Given the description of an element on the screen output the (x, y) to click on. 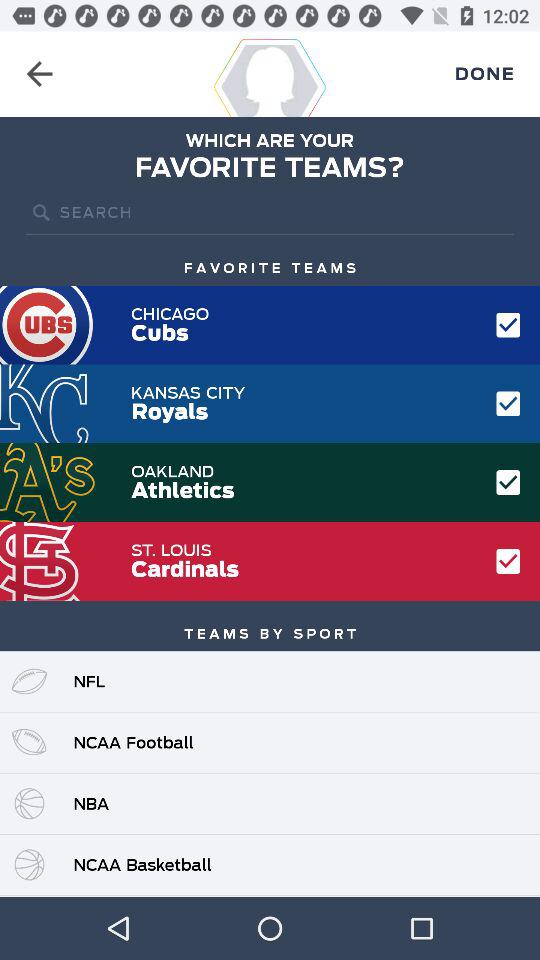
go to previous (39, 73)
